Given the description of an element on the screen output the (x, y) to click on. 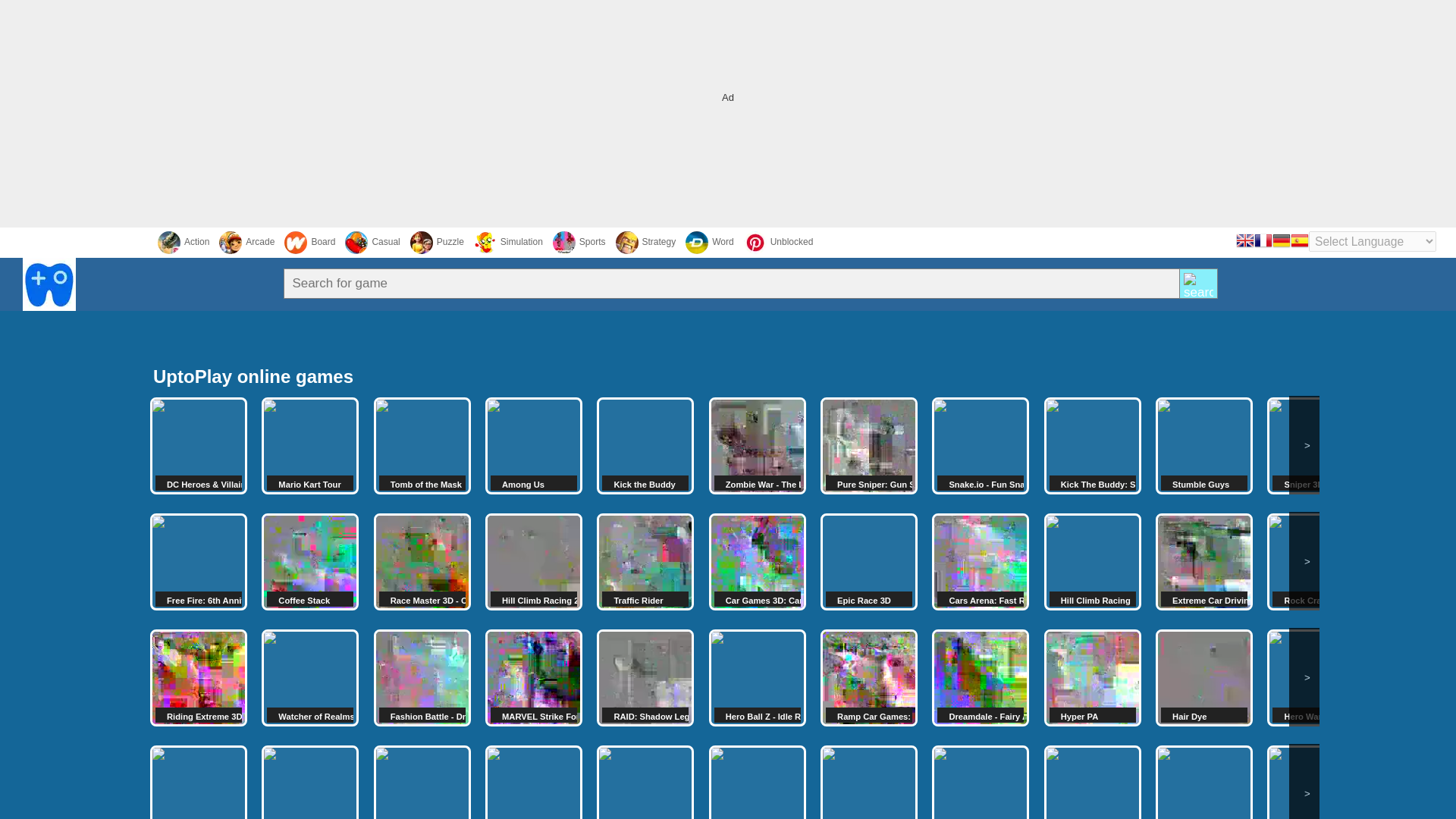
Action games online (183, 241)
Snake.io - Fun Snake .io Games (980, 445)
Sports (579, 241)
Word games online (709, 241)
Unblocked Games Premium (778, 241)
Coffee Stack (310, 561)
Hill Climb Racing 2 (533, 561)
Traffic Rider (645, 561)
Strategy games online (646, 241)
Cars Arena: Fast Race 3D (980, 561)
Stumble Guys (1204, 445)
Unblocked (778, 241)
Kick the Buddy (645, 445)
Zombie War - The Last Survivor (757, 445)
Board (308, 241)
